Given the description of an element on the screen output the (x, y) to click on. 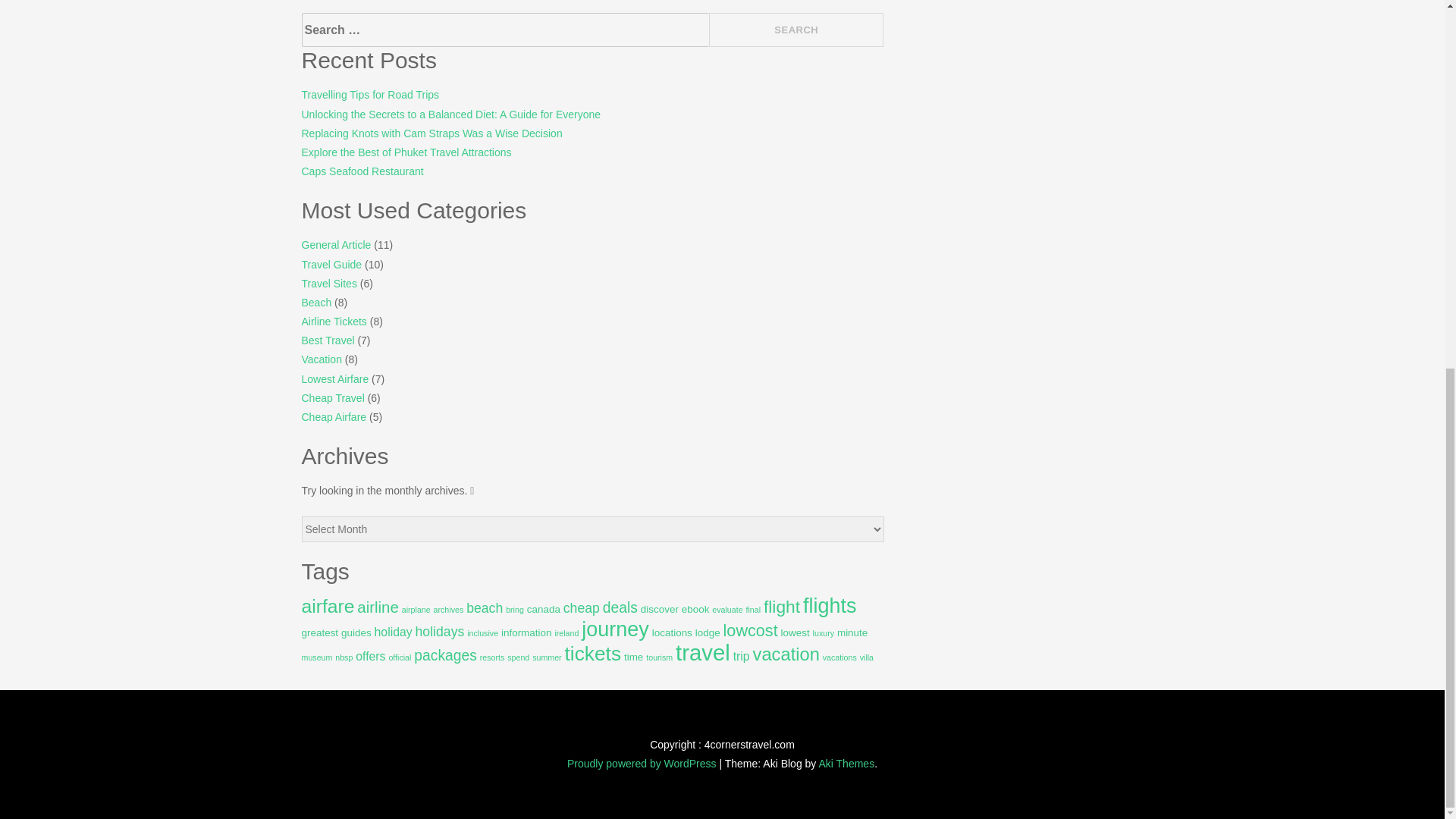
Caps Seafood Restaurant (362, 171)
Replacing Knots with Cam Straps Was a Wise Decision (431, 133)
General Article (336, 244)
Explore the Best of Phuket Travel Attractions (406, 152)
Search (796, 29)
Search (796, 29)
Travelling Tips for Road Trips (370, 94)
Travel Guide (331, 264)
Search (796, 29)
